Given the description of an element on the screen output the (x, y) to click on. 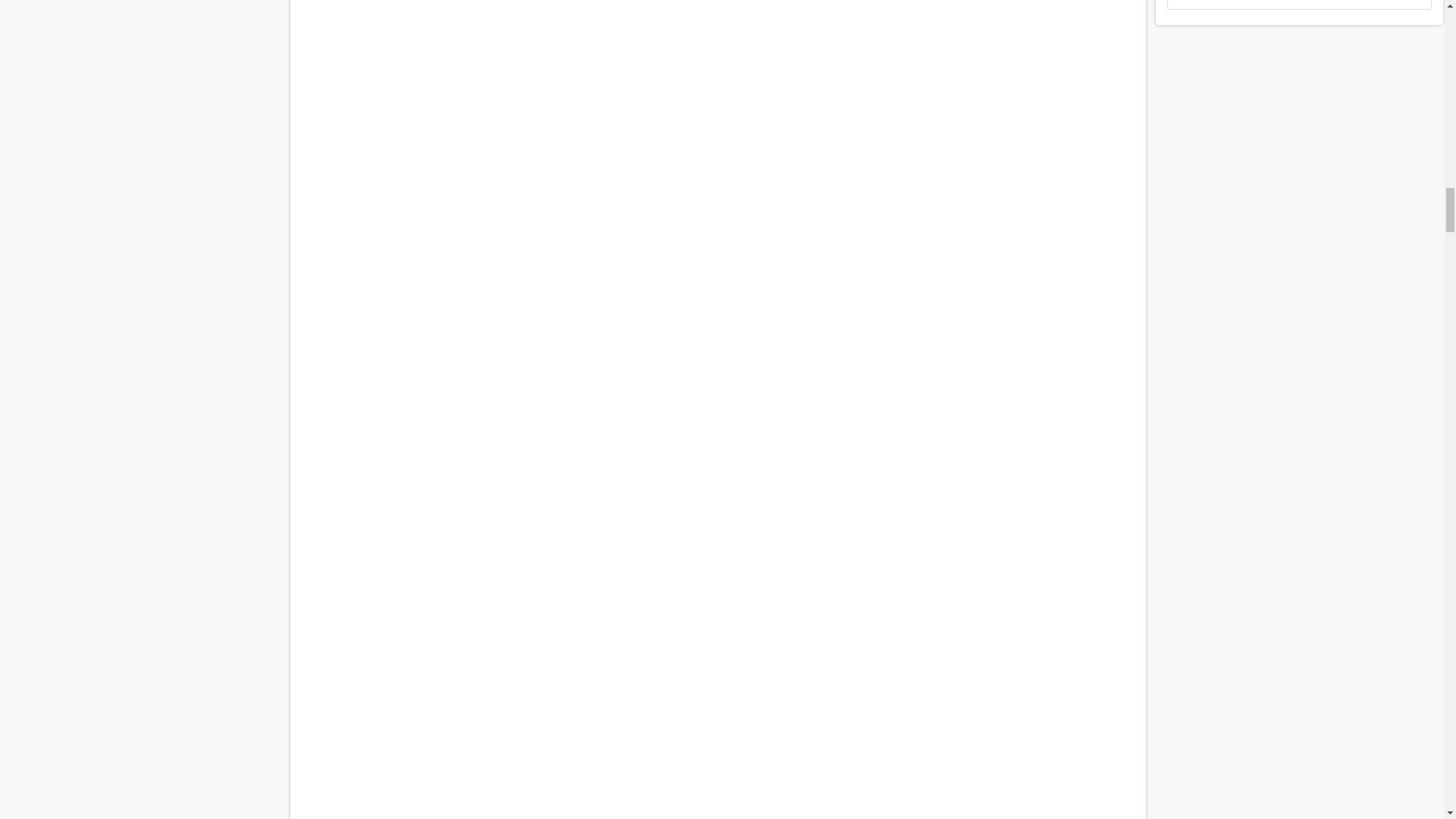
Commonly confused words (717, 573)
